Given the description of an element on the screen output the (x, y) to click on. 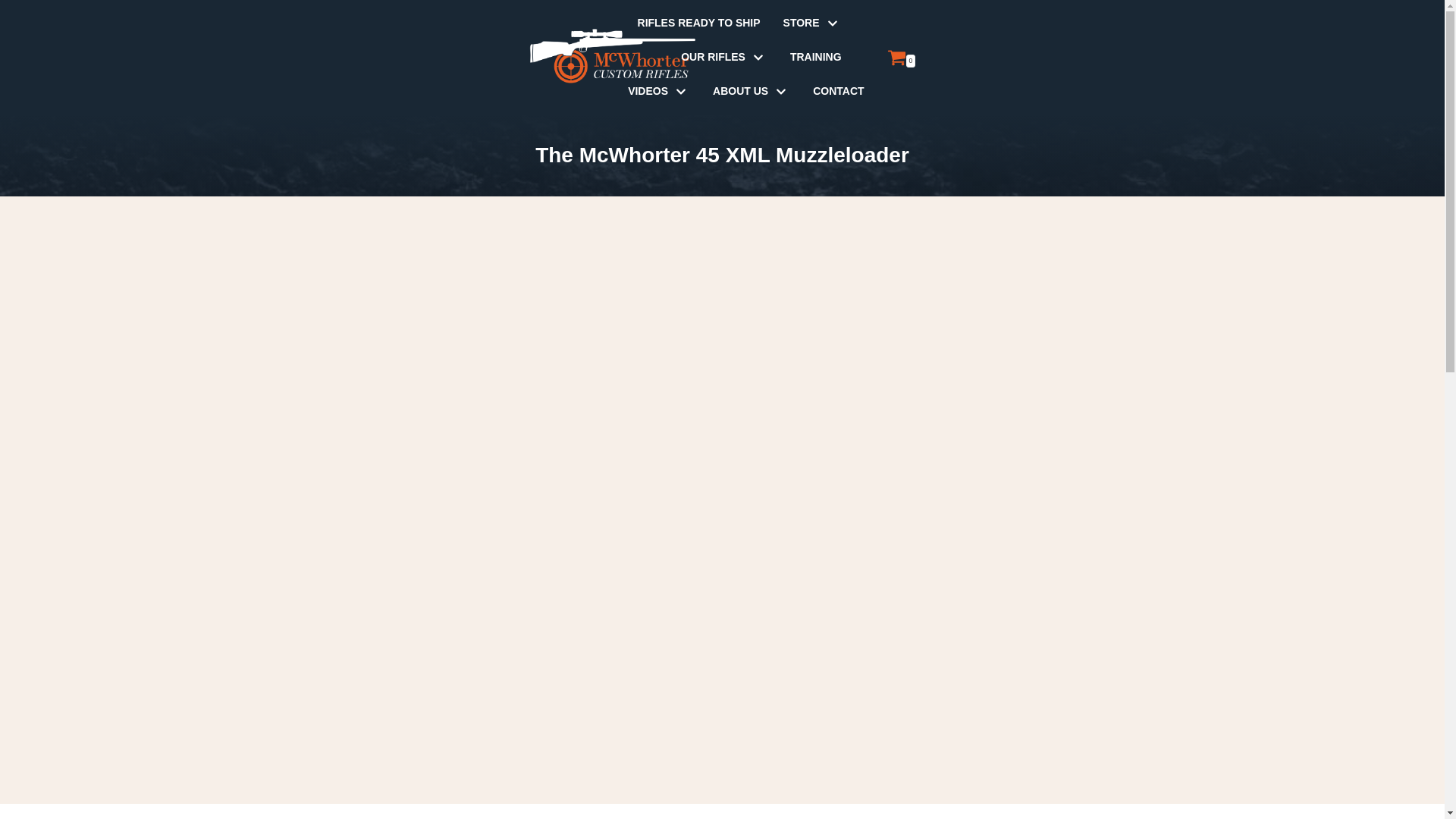
ABOUT US (751, 90)
TRAINING (815, 56)
OUR RIFLES (724, 56)
RIFLES READY TO SHIP (698, 22)
STORE (812, 22)
VIDEOS (658, 90)
McWhorter Rifles (612, 56)
Skip to content (15, 31)
CONTACT (837, 90)
0 (900, 56)
